Given the description of an element on the screen output the (x, y) to click on. 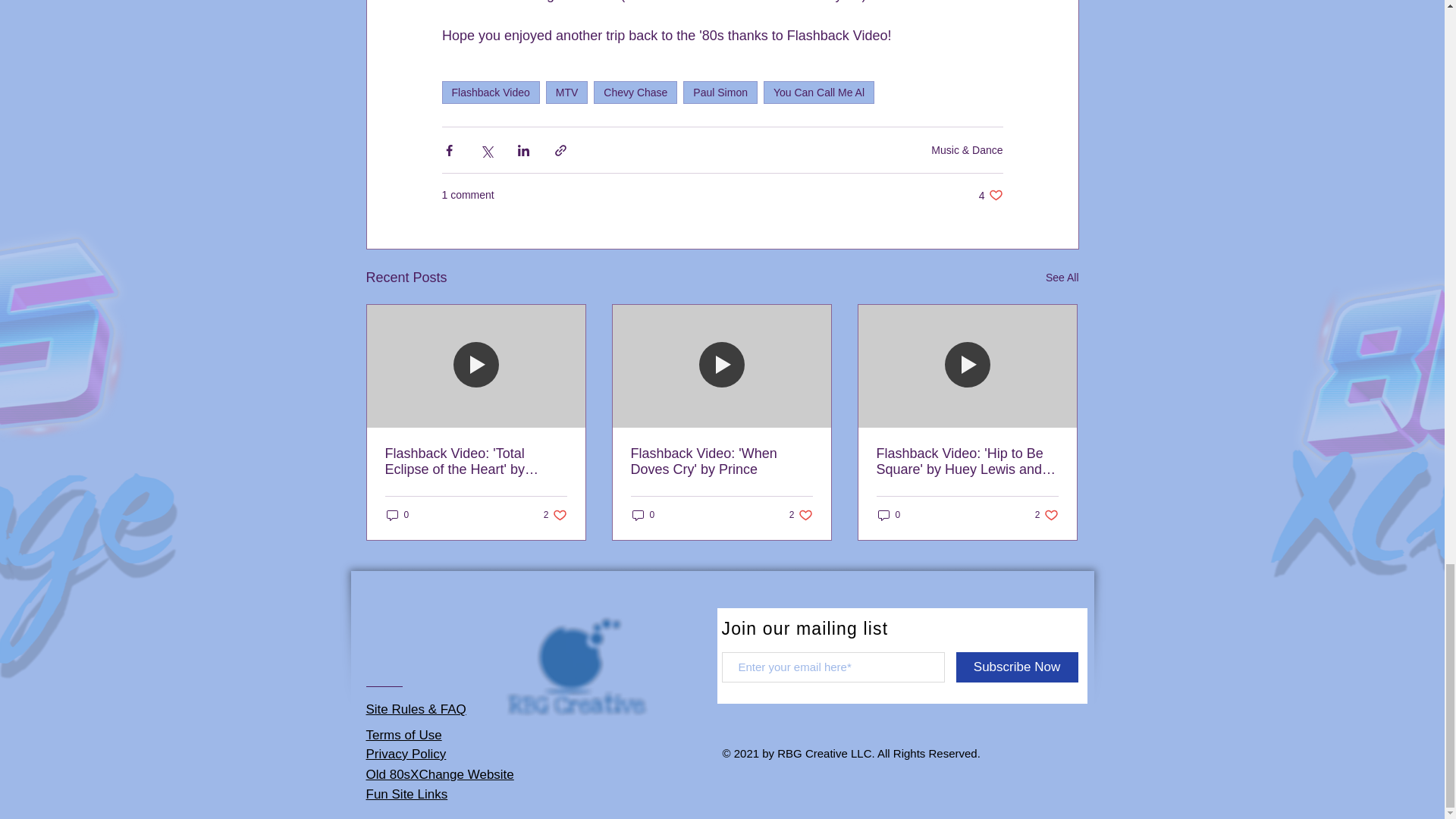
Paul Simon (555, 514)
Chevy Chase (719, 92)
0 (635, 92)
You Can Call Me Al (990, 195)
MTV (397, 514)
Flashback Video (818, 92)
See All (567, 92)
